Given the description of an element on the screen output the (x, y) to click on. 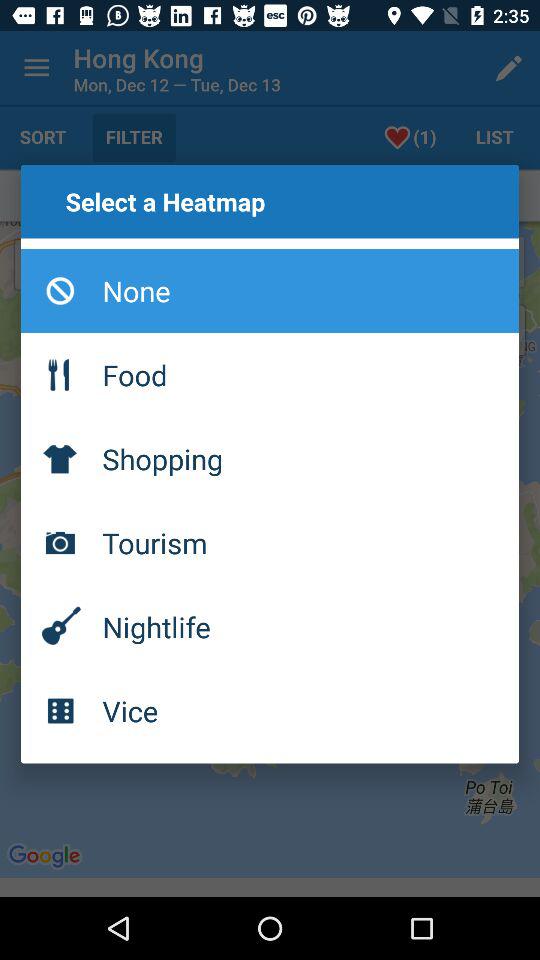
press the item below the tourism icon (270, 626)
